Given the description of an element on the screen output the (x, y) to click on. 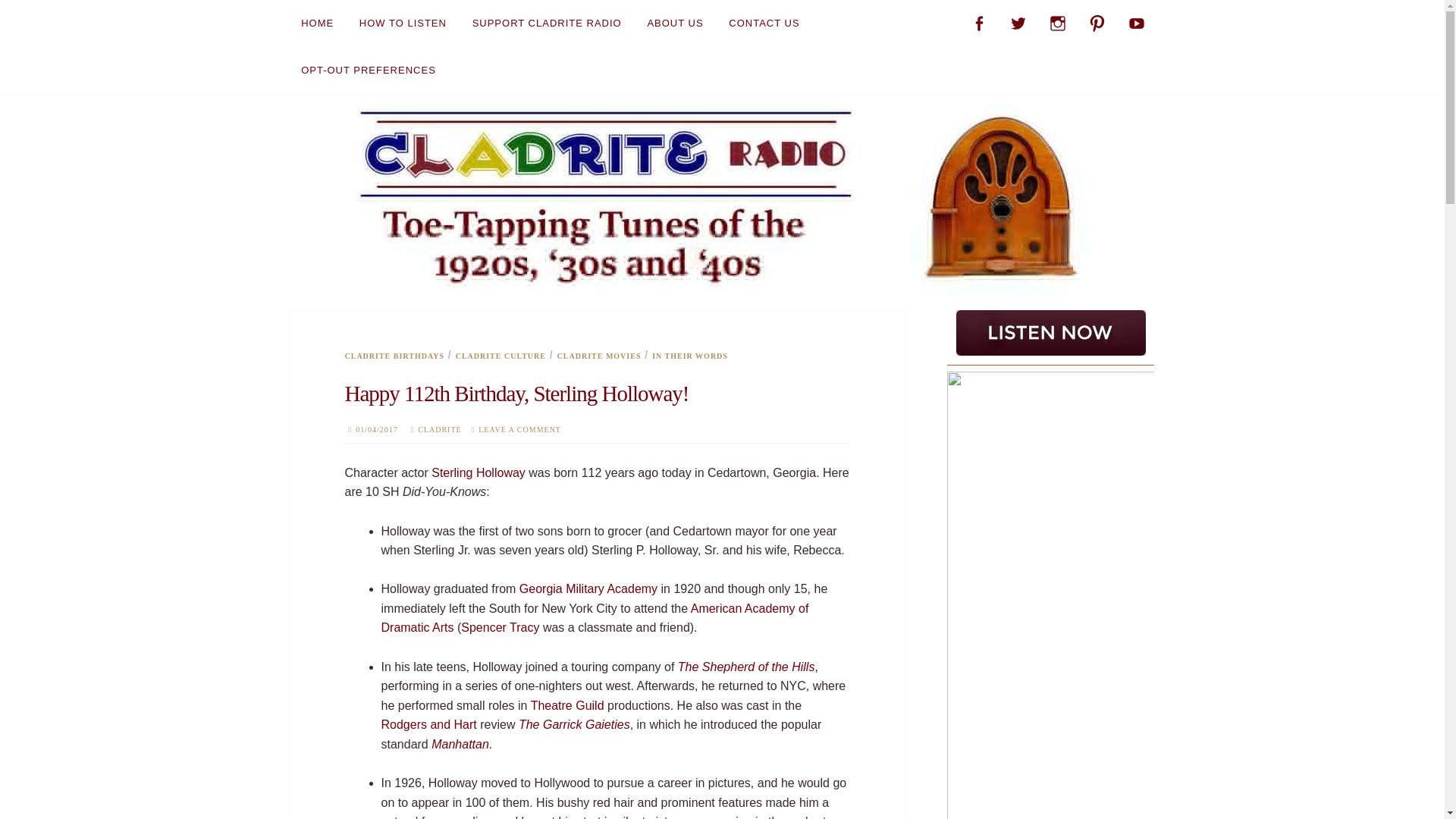
CLADRITE CULTURE (500, 356)
Georgia Military Academy (588, 588)
The Shepherd of the Hills (746, 666)
CLADRITE MOVIES (599, 356)
ABOUT US (675, 23)
HOW TO LISTEN (402, 23)
Spencer Tracy (499, 626)
SUPPORT CLADRITE RADIO (546, 23)
OPT-OUT PREFERENCES (367, 70)
CLADRITE BIRTHDAYS (393, 356)
American Academy of Dramatic Arts (594, 617)
Rodgers and Hart (428, 724)
The Garrick Gaieties (574, 724)
Sterling Holloway (477, 472)
LEAVE A COMMENT (519, 429)
